Given the description of an element on the screen output the (x, y) to click on. 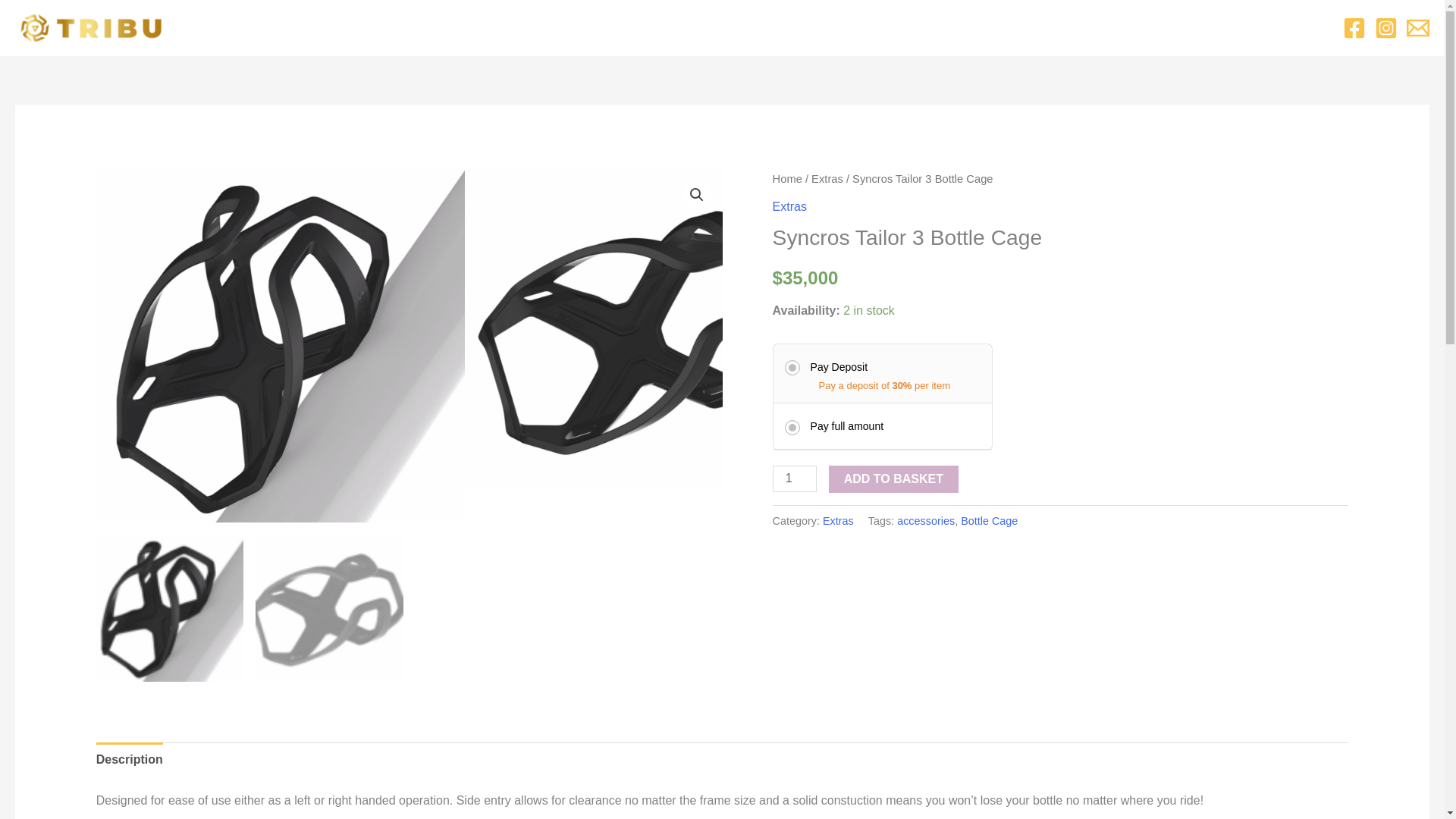
ADD TO BASKET (893, 479)
CONTACT (776, 27)
Syncros Tailor 3 Bottle Cage (280, 345)
OUR MODELS (682, 27)
Bottle Cage (988, 521)
HOME (598, 27)
Syncros Tailor 3 Bottle Cage (649, 327)
Description (129, 759)
Extras (837, 521)
Home (787, 178)
LOGIN (844, 27)
Extras (789, 205)
1 (794, 479)
Extras (826, 178)
accessories (925, 521)
